Given the description of an element on the screen output the (x, y) to click on. 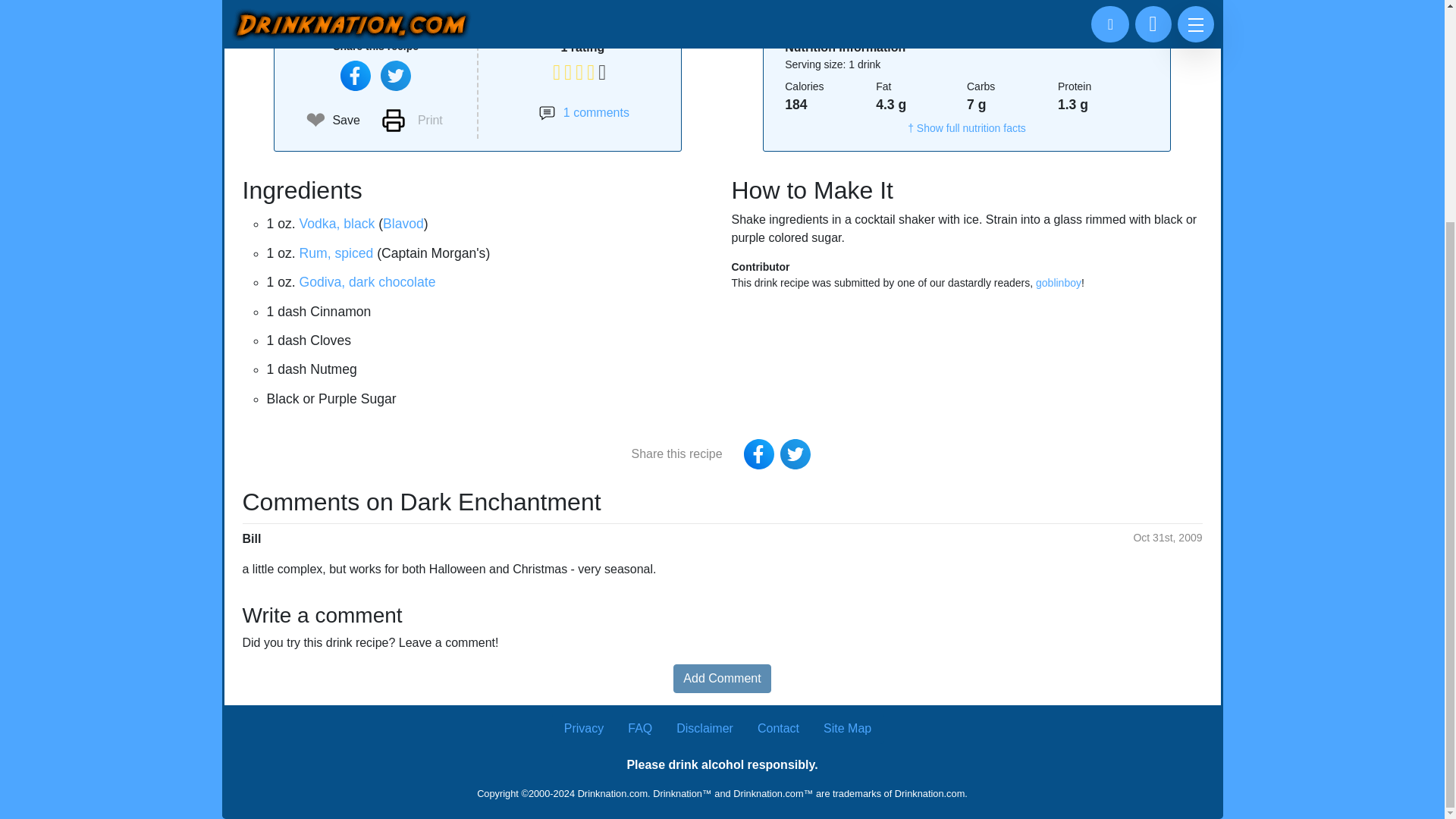
Site Map (847, 727)
1 comments (583, 113)
Print (411, 120)
Blavod (402, 223)
Vodka, black (337, 223)
Disclaimer (705, 727)
Contact (778, 727)
Advertisement (722, 7)
FAQ (639, 727)
goblinboy (1058, 282)
